Given the description of an element on the screen output the (x, y) to click on. 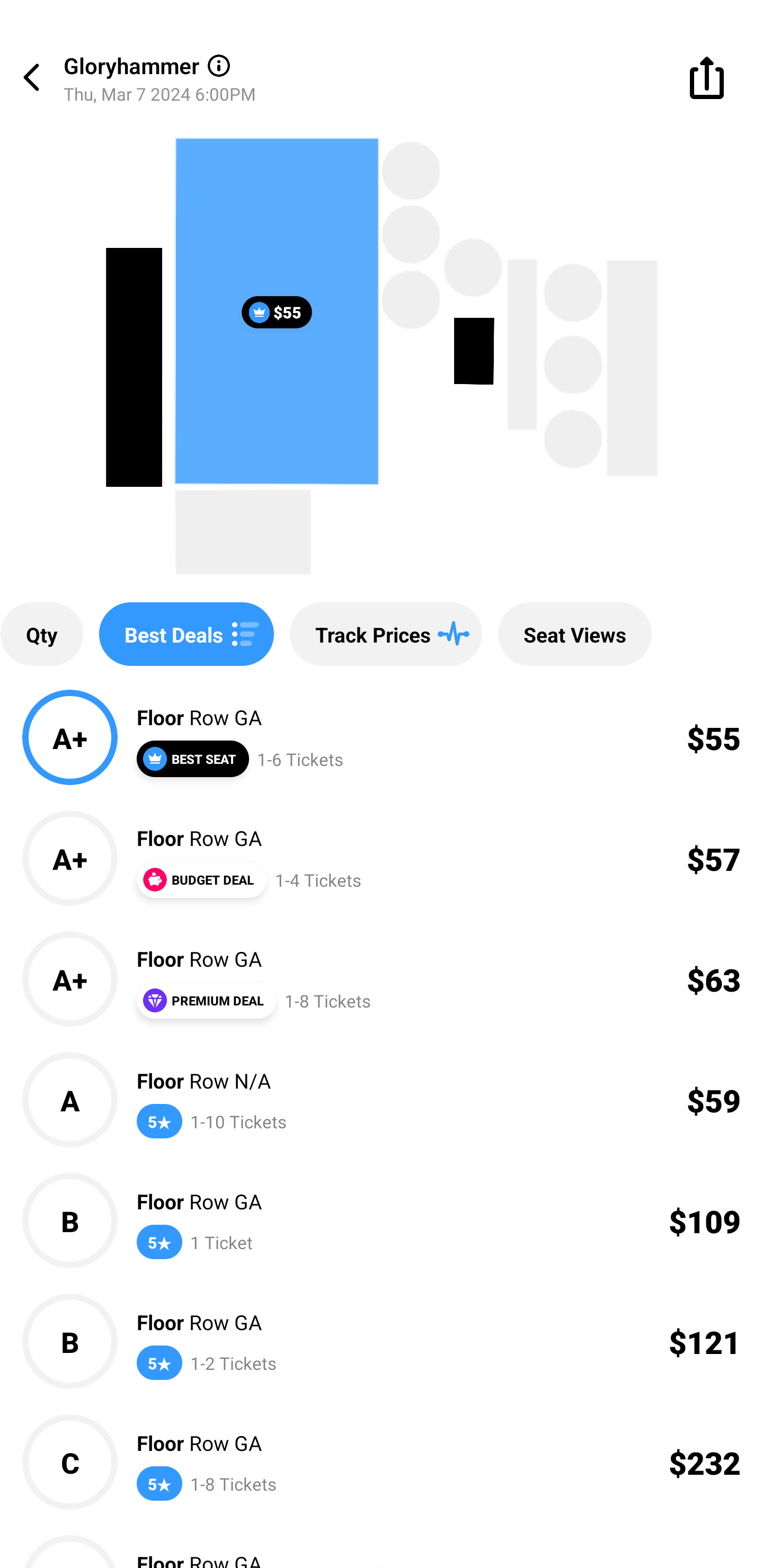
$55 (276, 311)
Qty (41, 634)
Best Deals (186, 634)
Track Prices (385, 634)
Seat Views (574, 634)
BEST SEAT (192, 758)
BUDGET DEAL (201, 879)
PREMIUM DEAL (206, 1000)
